Given the description of an element on the screen output the (x, y) to click on. 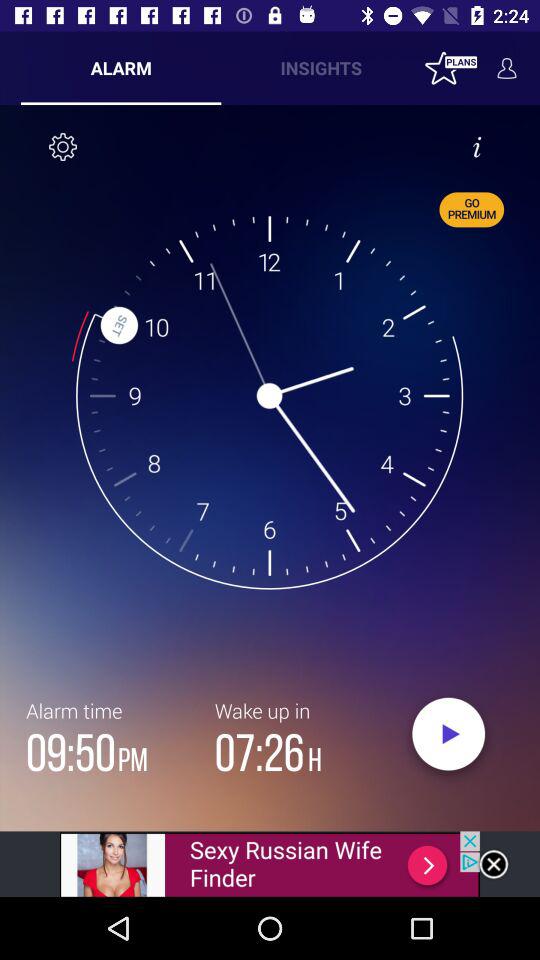
view advertisement (270, 864)
